Given the description of an element on the screen output the (x, y) to click on. 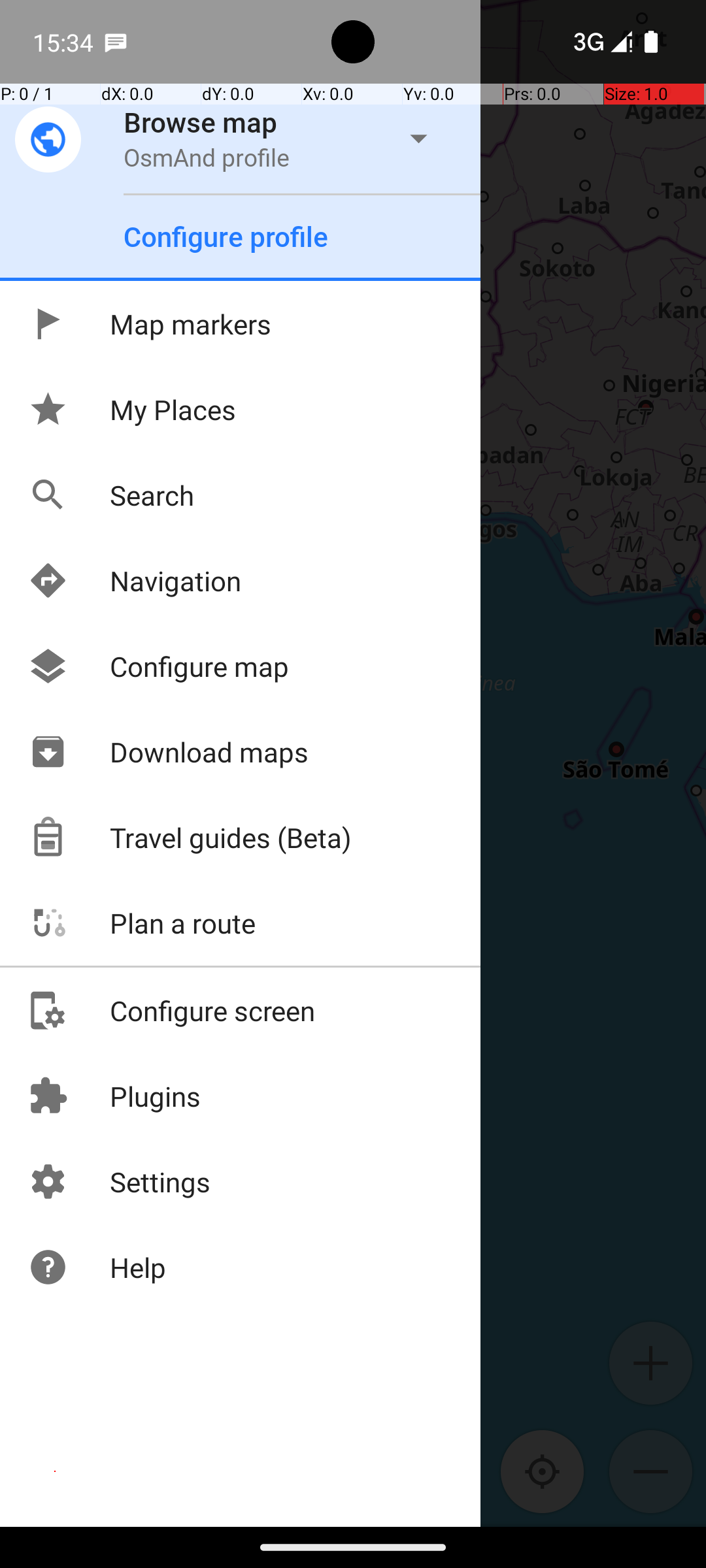
Browse map Element type: android.widget.TextView (200, 121)
OsmAnd profile Element type: android.widget.TextView (206, 156)
Configure profile Element type: android.widget.TextView (225, 235)
Map markers Element type: android.widget.TextView (149, 323)
My Places Element type: android.widget.TextView (131, 409)
Navigation Element type: android.widget.TextView (134, 580)
Configure map Element type: android.widget.TextView (158, 665)
Download maps Element type: android.widget.TextView (168, 751)
Travel guides (Beta) Element type: android.widget.TextView (189, 837)
Plan a route Element type: android.widget.TextView (141, 922)
Configure screen Element type: android.widget.TextView (171, 1010)
Plugins Element type: android.widget.TextView (114, 1095)
Help Element type: android.widget.TextView (96, 1266)
